Given the description of an element on the screen output the (x, y) to click on. 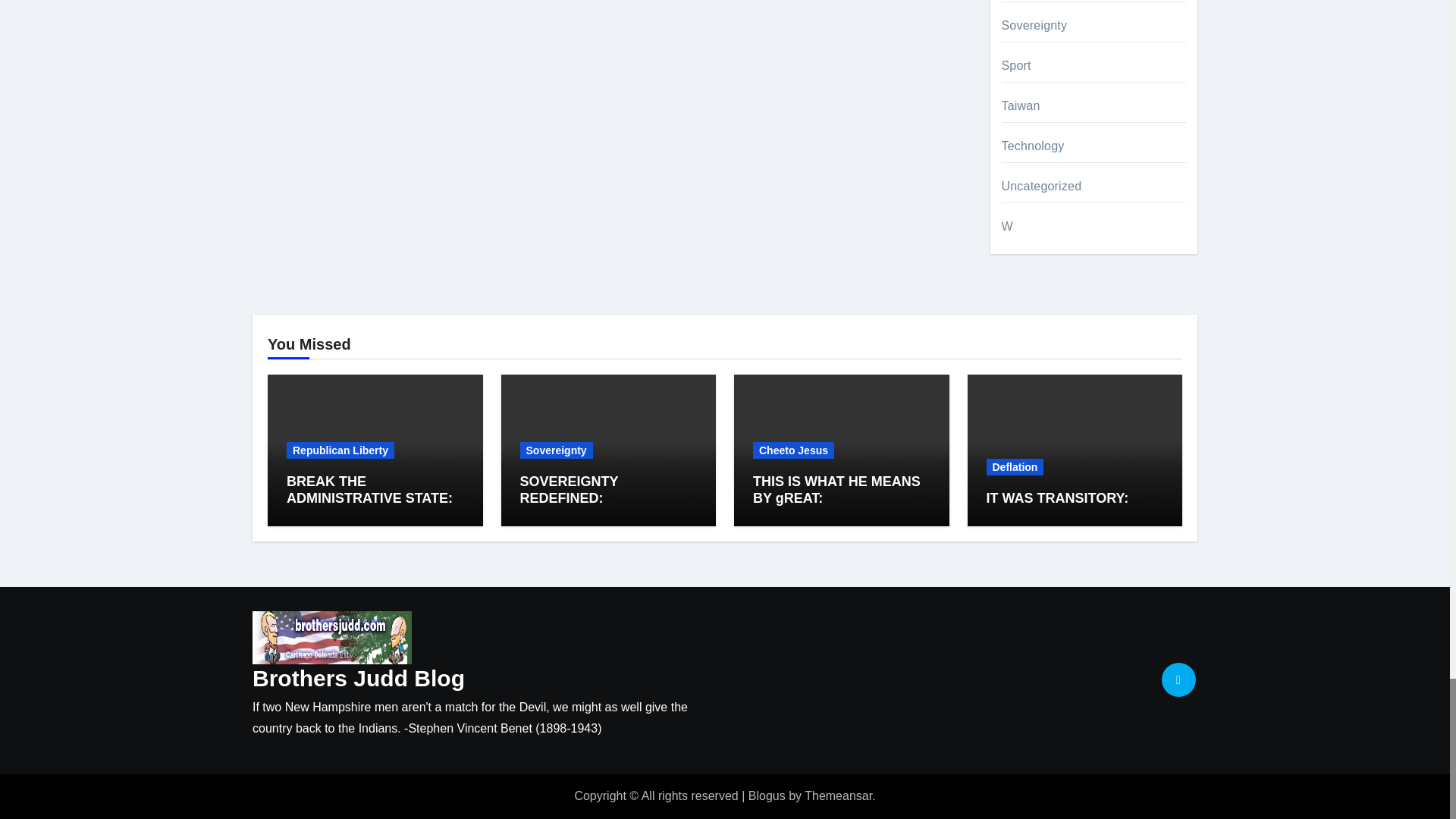
Permalink to: THIS IS WHAT HE MEANS BY gREAT: (836, 490)
Permalink to: IT WAS TRANSITORY: (1056, 498)
Permalink to: BREAK THE ADMINISTRATIVE STATE: (369, 490)
Permalink to: SOVEREIGNTY REDEFINED: (568, 490)
